Given the description of an element on the screen output the (x, y) to click on. 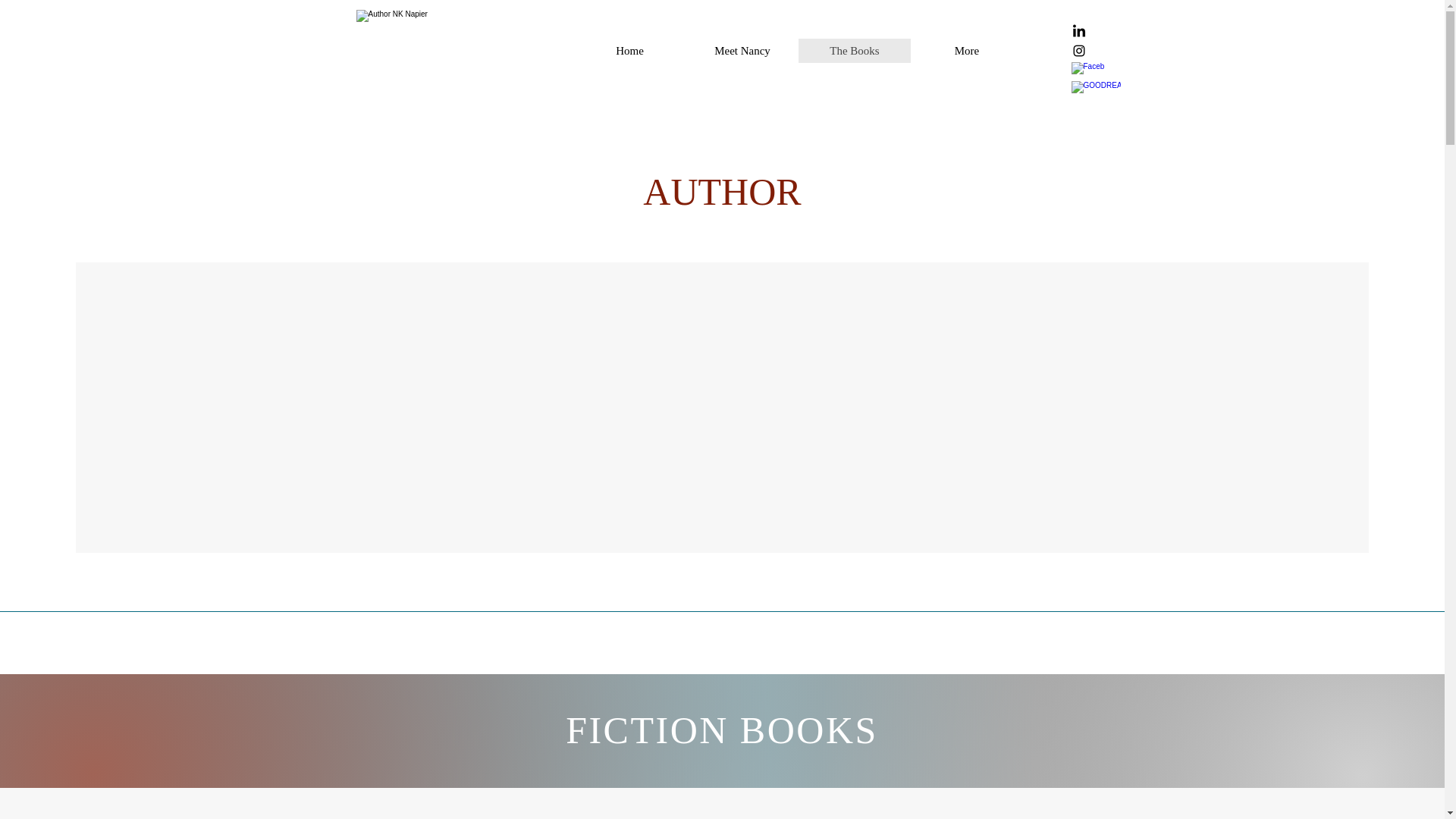
Meet Nancy (741, 50)
Home (629, 50)
The Books (853, 50)
